Given the description of an element on the screen output the (x, y) to click on. 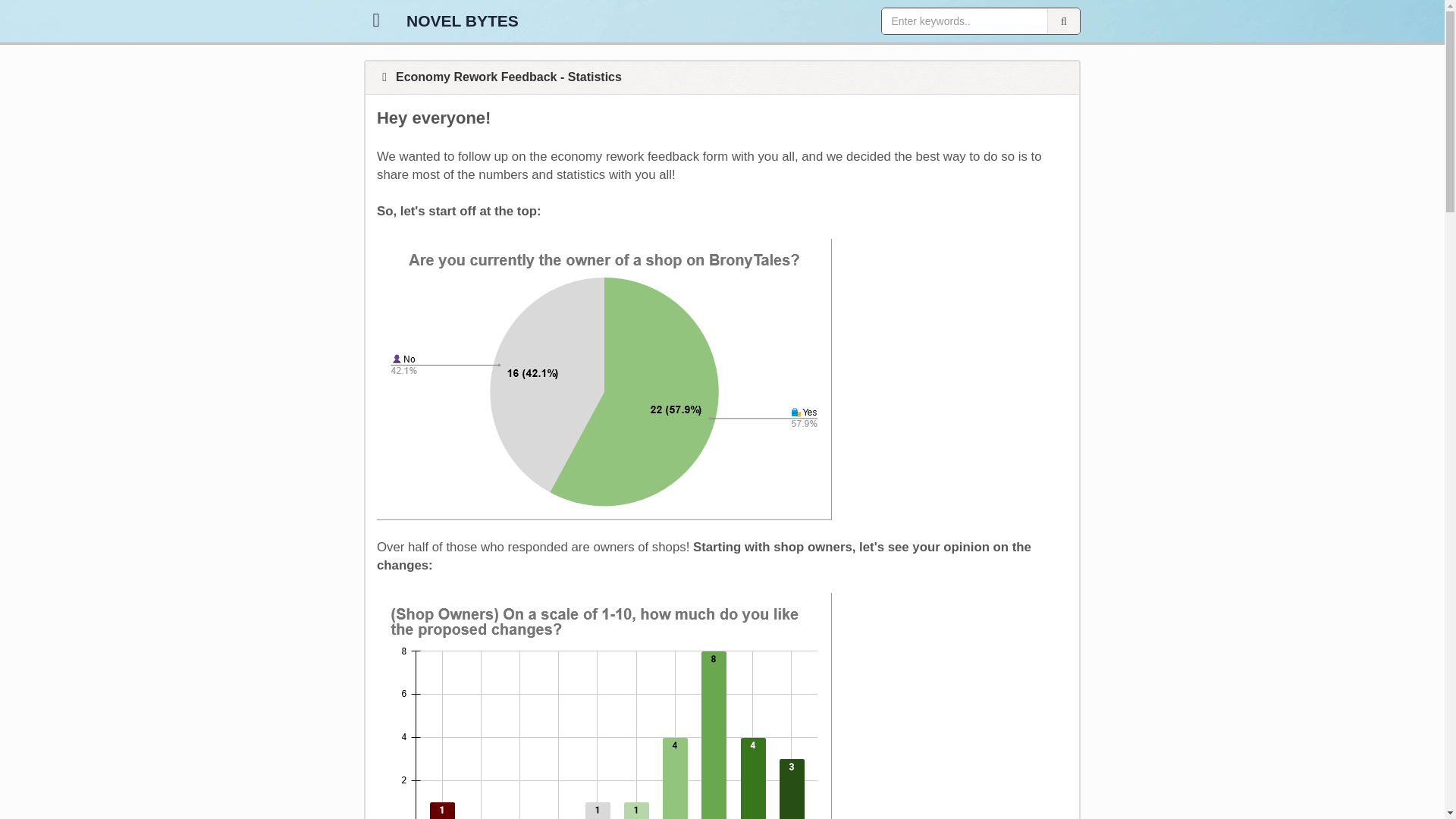
NOVEL BYTES (462, 20)
Menu (376, 19)
Novel Bytes (462, 20)
